Given the description of an element on the screen output the (x, y) to click on. 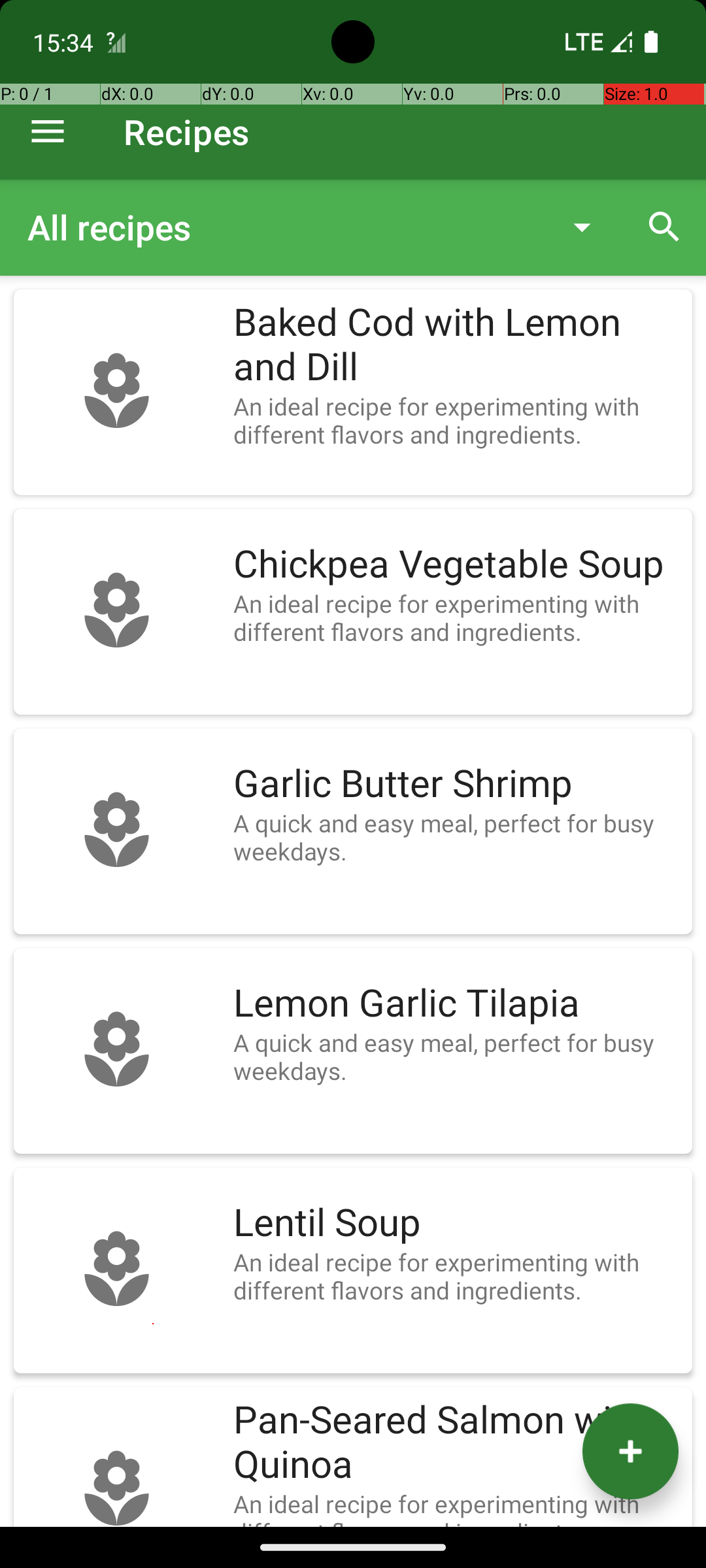
Pan-Seared Salmon with Quinoa Element type: android.widget.TextView (455, 1442)
